Given the description of an element on the screen output the (x, y) to click on. 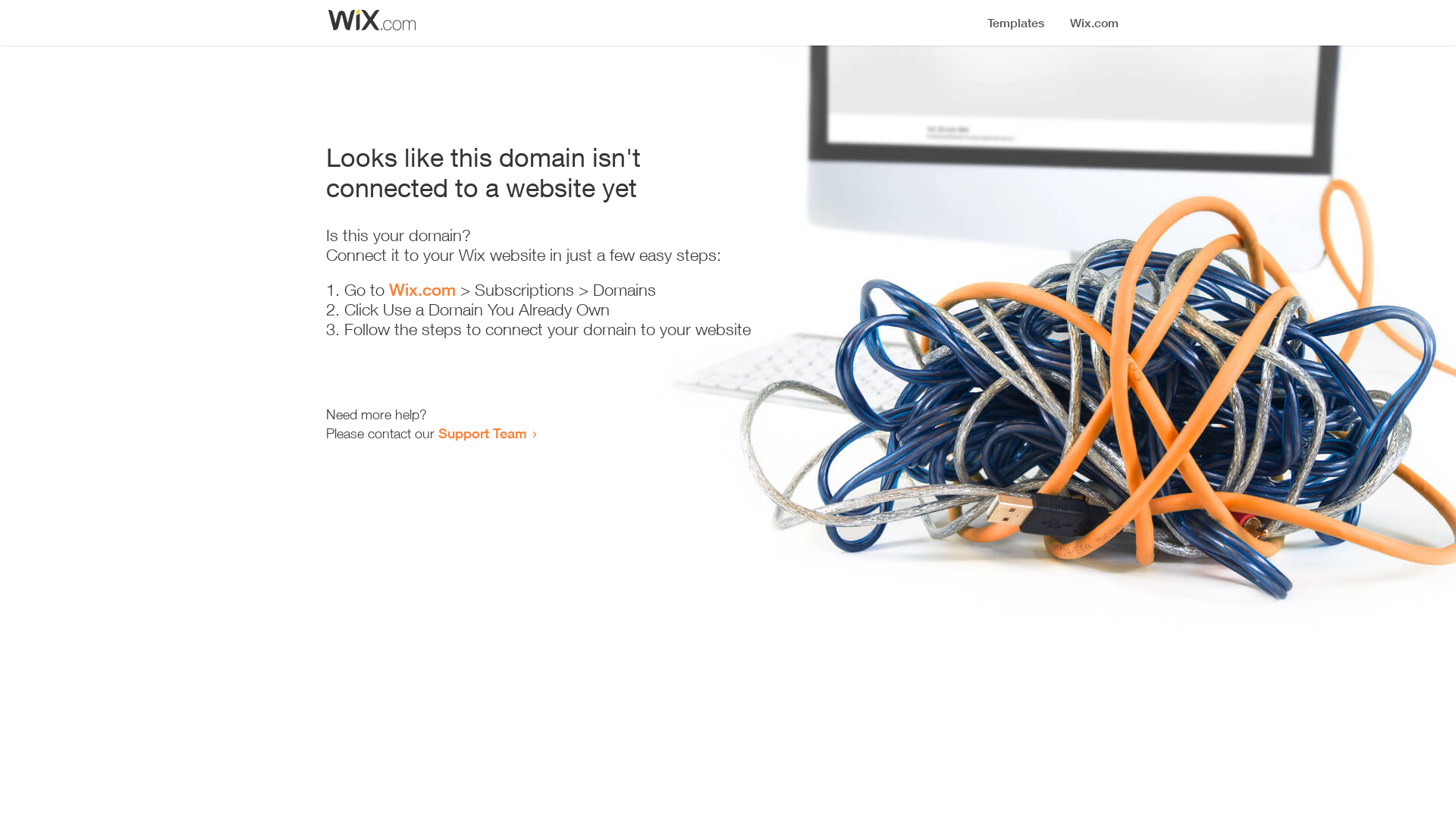
Wix.com Element type: text (422, 289)
Support Team Element type: text (482, 432)
